Given the description of an element on the screen output the (x, y) to click on. 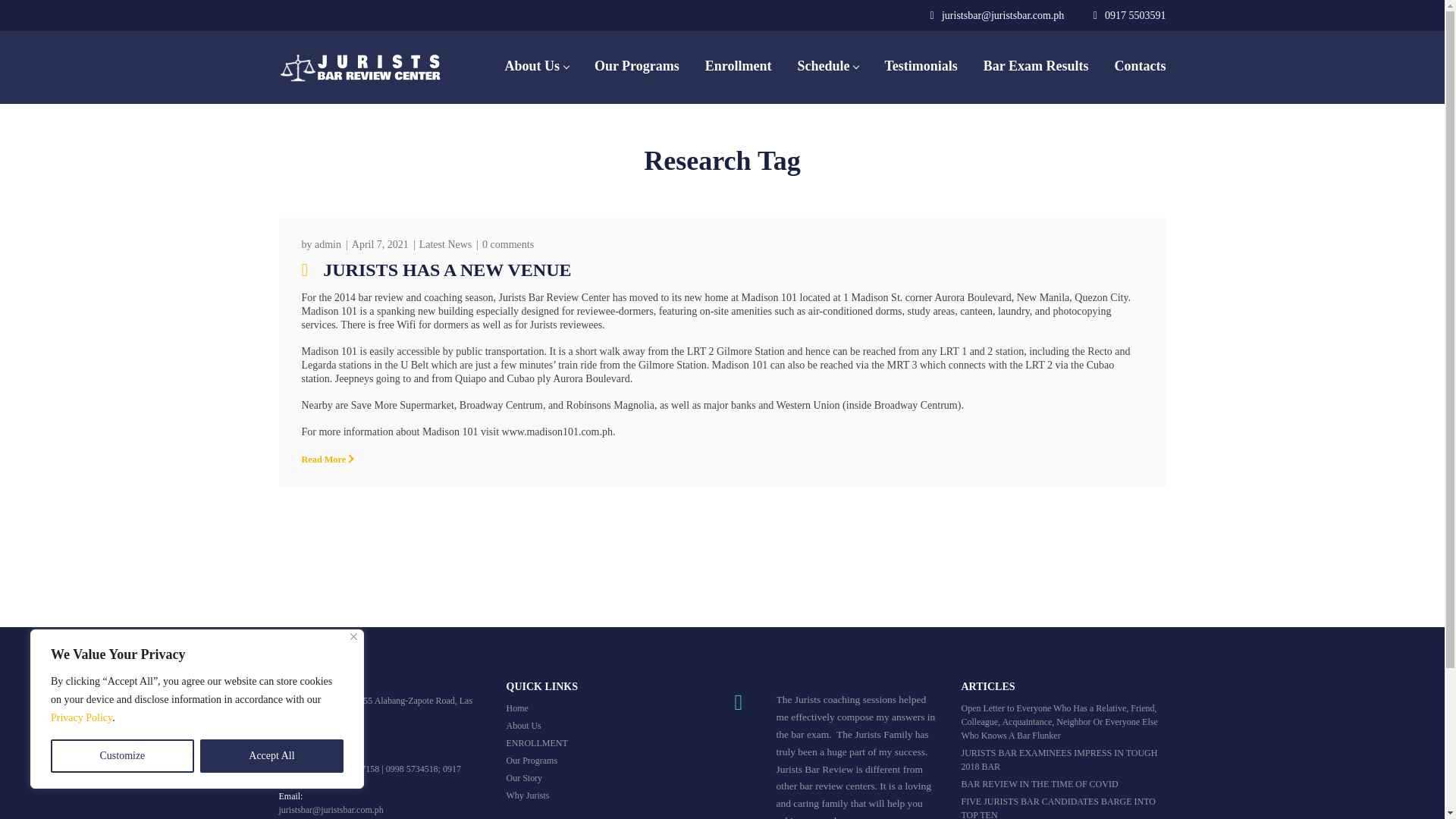
Accept All (271, 756)
0917 5503591 (1135, 15)
Our Programs (636, 67)
About Us (536, 67)
Bar Exam Results (1035, 67)
Testimonials (920, 67)
Customize (121, 756)
Contacts (1139, 67)
Privacy Policy (81, 717)
Schedule (827, 67)
